Given the description of an element on the screen output the (x, y) to click on. 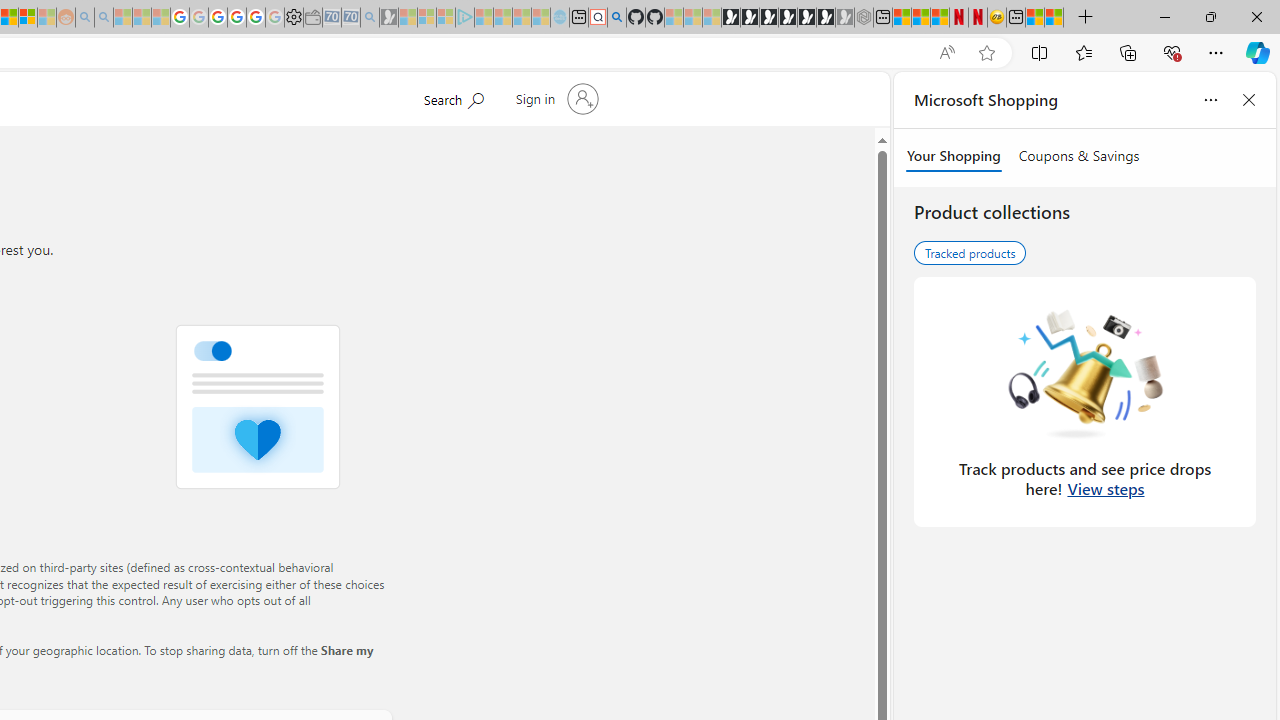
Sign in to your account (554, 98)
